Given the description of an element on the screen output the (x, y) to click on. 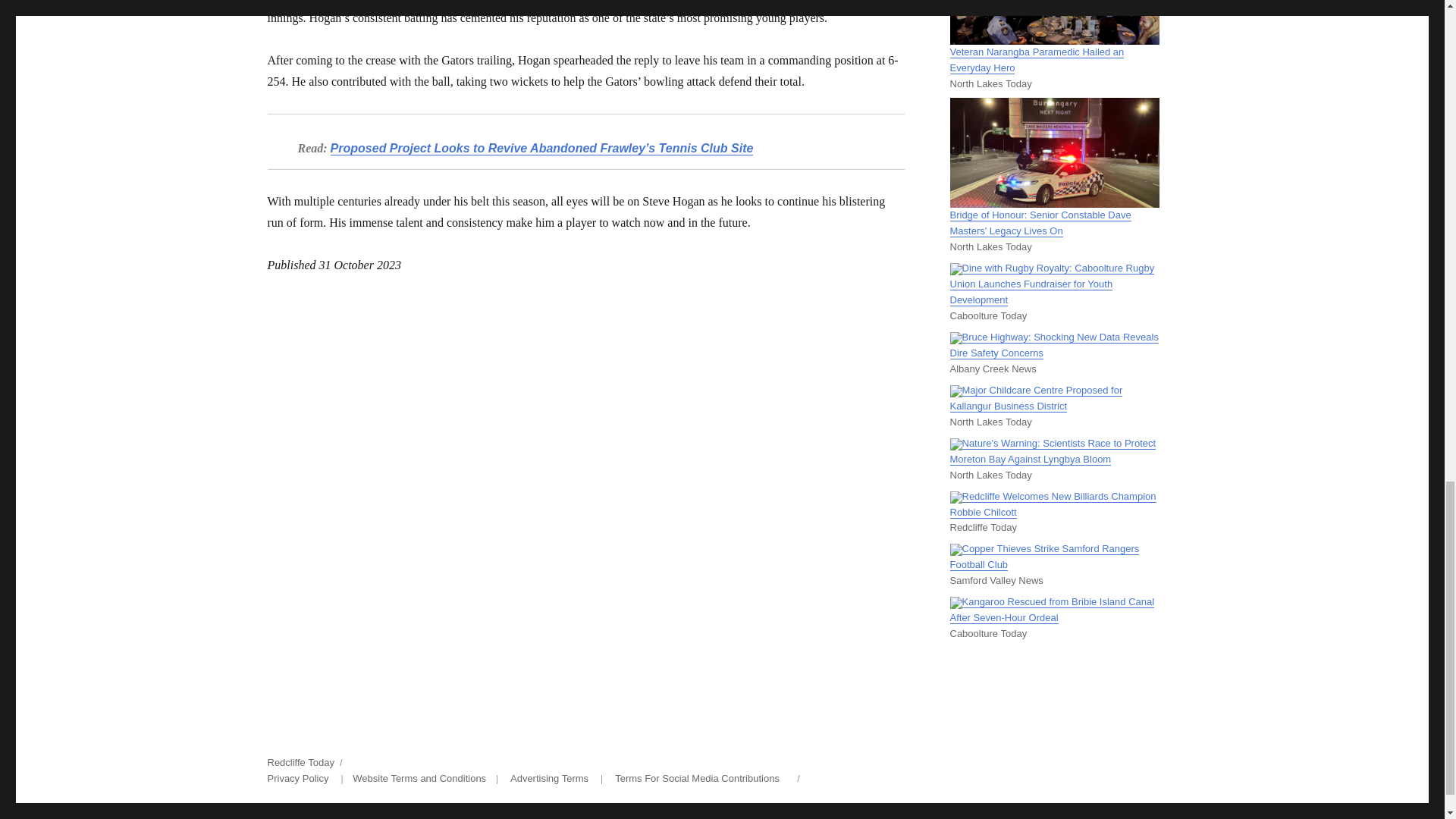
Redcliffe Welcomes New Billiards Champion Robbie Chilcott (1052, 503)
Website Terms and Conditions (419, 778)
Advertising Terms (549, 778)
Redcliffe Today (299, 762)
Copper Thieves Strike Samford Rangers Football Club (1043, 556)
Veteran Narangba Paramedic Hailed an Everyday Hero (1036, 59)
Privacy Policy (297, 778)
